Given the description of an element on the screen output the (x, y) to click on. 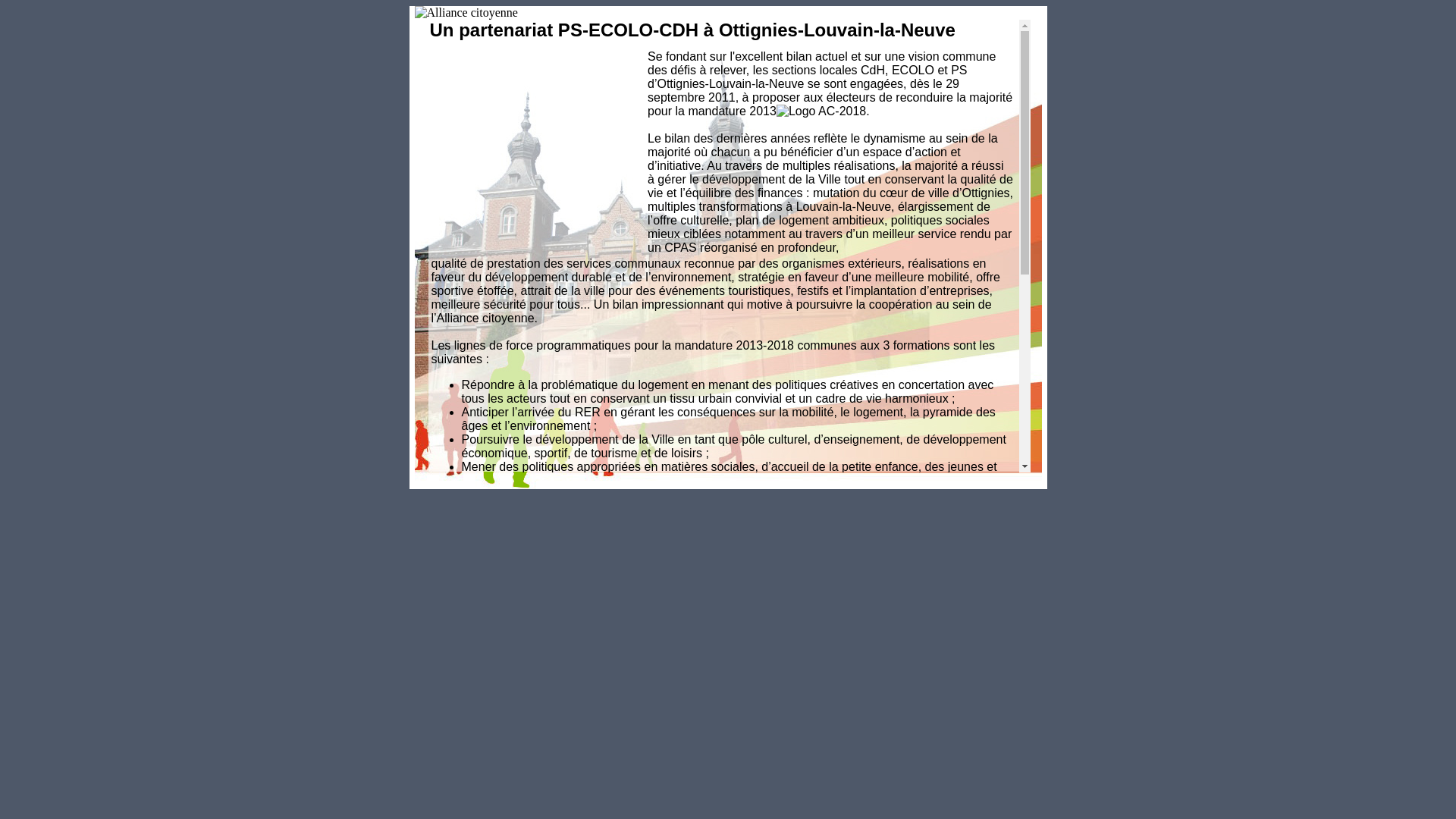
Tracts Element type: text (952, 262)
Pacte Element type: text (920, 153)
Accueil Element type: text (926, 84)
Les mandats Element type: text (968, 180)
Presse Element type: text (953, 248)
le projet Element type: text (958, 166)
Archives Element type: text (929, 289)
Acteurs Element type: text (926, 194)
Communiquer Element type: text (942, 235)
Acteurs 2006-2012 Element type: text (984, 207)
Contacts Element type: text (928, 275)
